Given the description of an element on the screen output the (x, y) to click on. 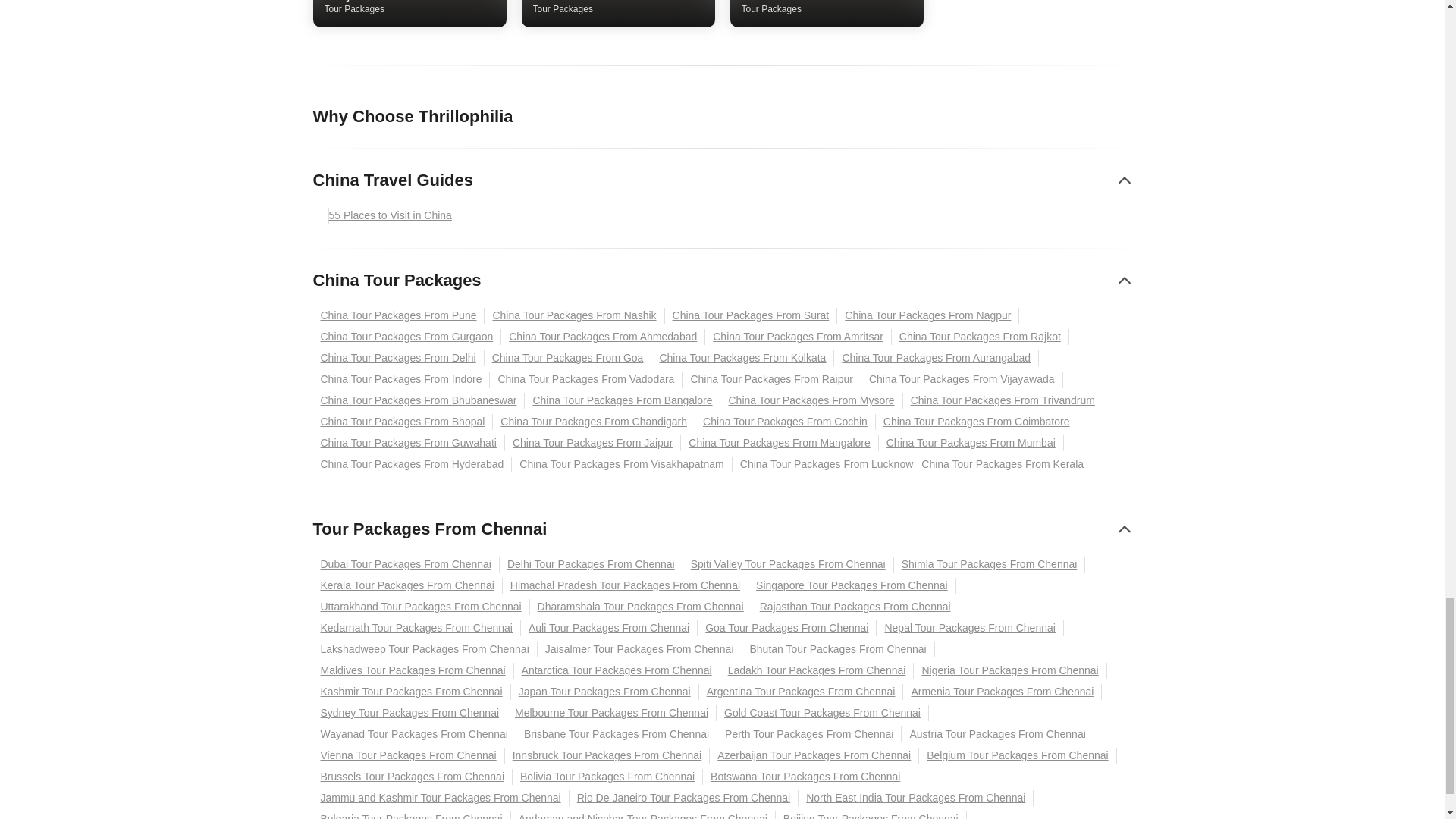
China Tour Packages From Bhubaneswar (418, 400)
China Tour Packages From Raipur (617, 7)
China Tour Packages From Ahmedabad (771, 379)
China Tour Packages From Goa (409, 7)
China Tour Packages From Bangalore (602, 336)
China Tour Packages From Surat (568, 358)
China Tour Packages From Gurgaon (622, 400)
China Tour Packages From Nagpur (751, 315)
